Given the description of an element on the screen output the (x, y) to click on. 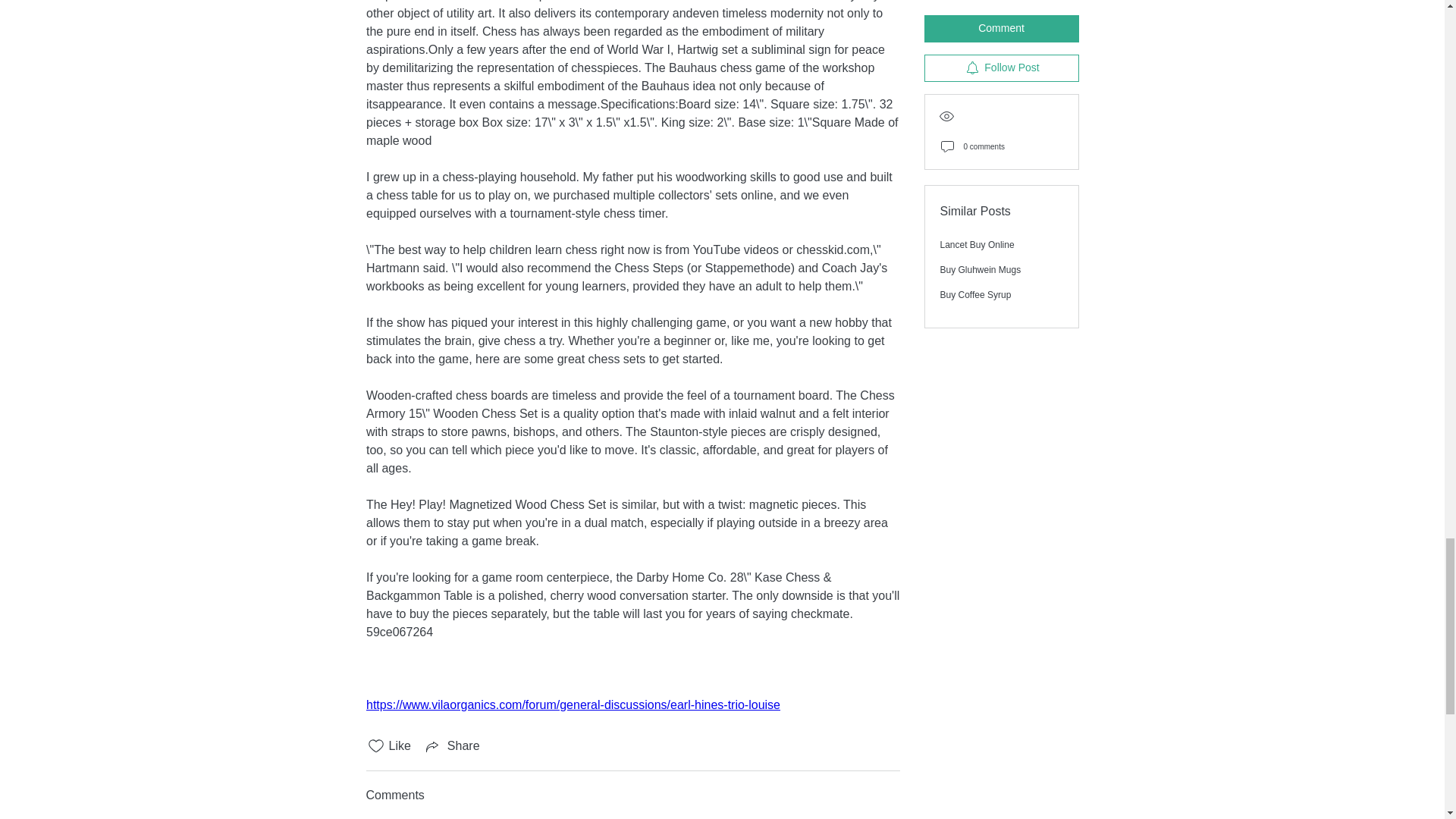
Share (451, 746)
